Given the description of an element on the screen output the (x, y) to click on. 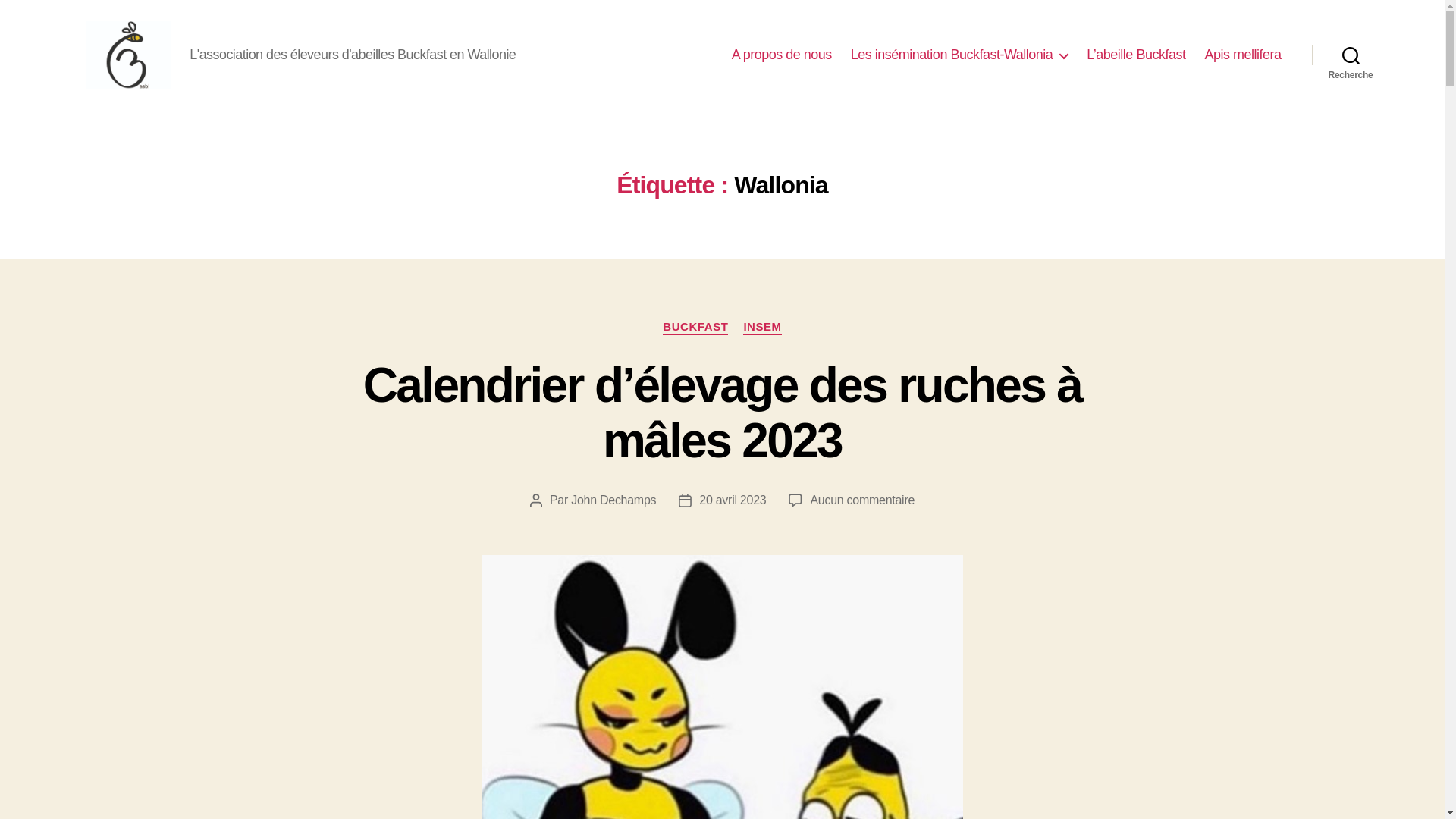
INSEM Element type: text (762, 327)
BUCKFAST Element type: text (695, 327)
Recherche Element type: text (1350, 55)
20 avril 2023 Element type: text (732, 499)
Apis mellifera Element type: text (1242, 55)
A propos de nous Element type: text (781, 55)
John Dechamps Element type: text (613, 499)
